Given the description of an element on the screen output the (x, y) to click on. 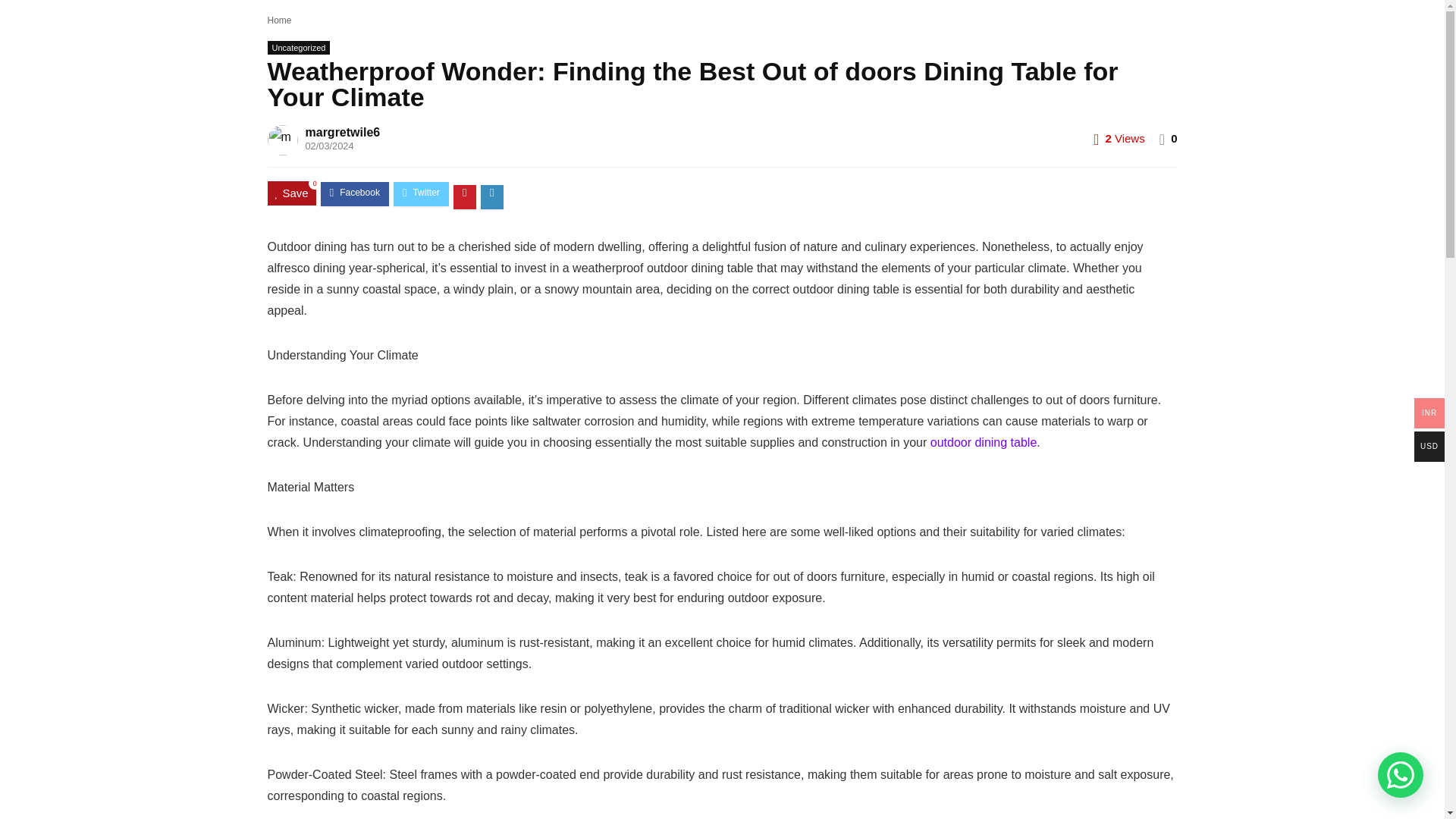
Home (278, 20)
margretwile6 (342, 132)
View all posts in Uncategorized (298, 47)
Uncategorized (298, 47)
outdoor dining table (983, 441)
